Given the description of an element on the screen output the (x, y) to click on. 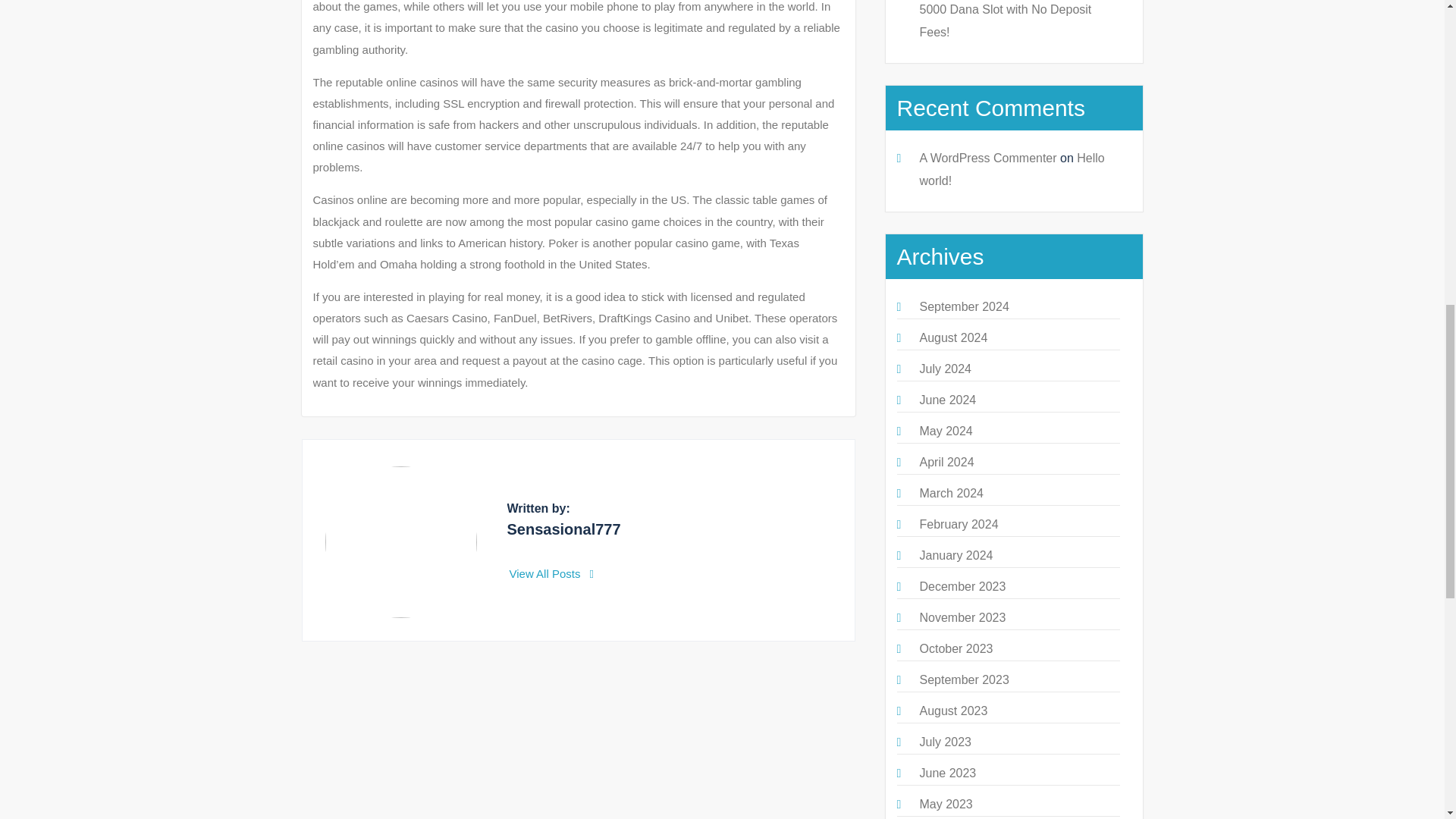
April 2024 (946, 461)
View All Posts (551, 573)
July 2024 (944, 368)
August 2024 (952, 337)
March 2024 (951, 492)
May 2023 (945, 803)
November 2023 (962, 617)
Hello world! (1010, 169)
February 2024 (957, 523)
A WordPress Commenter (987, 157)
